Given the description of an element on the screen output the (x, y) to click on. 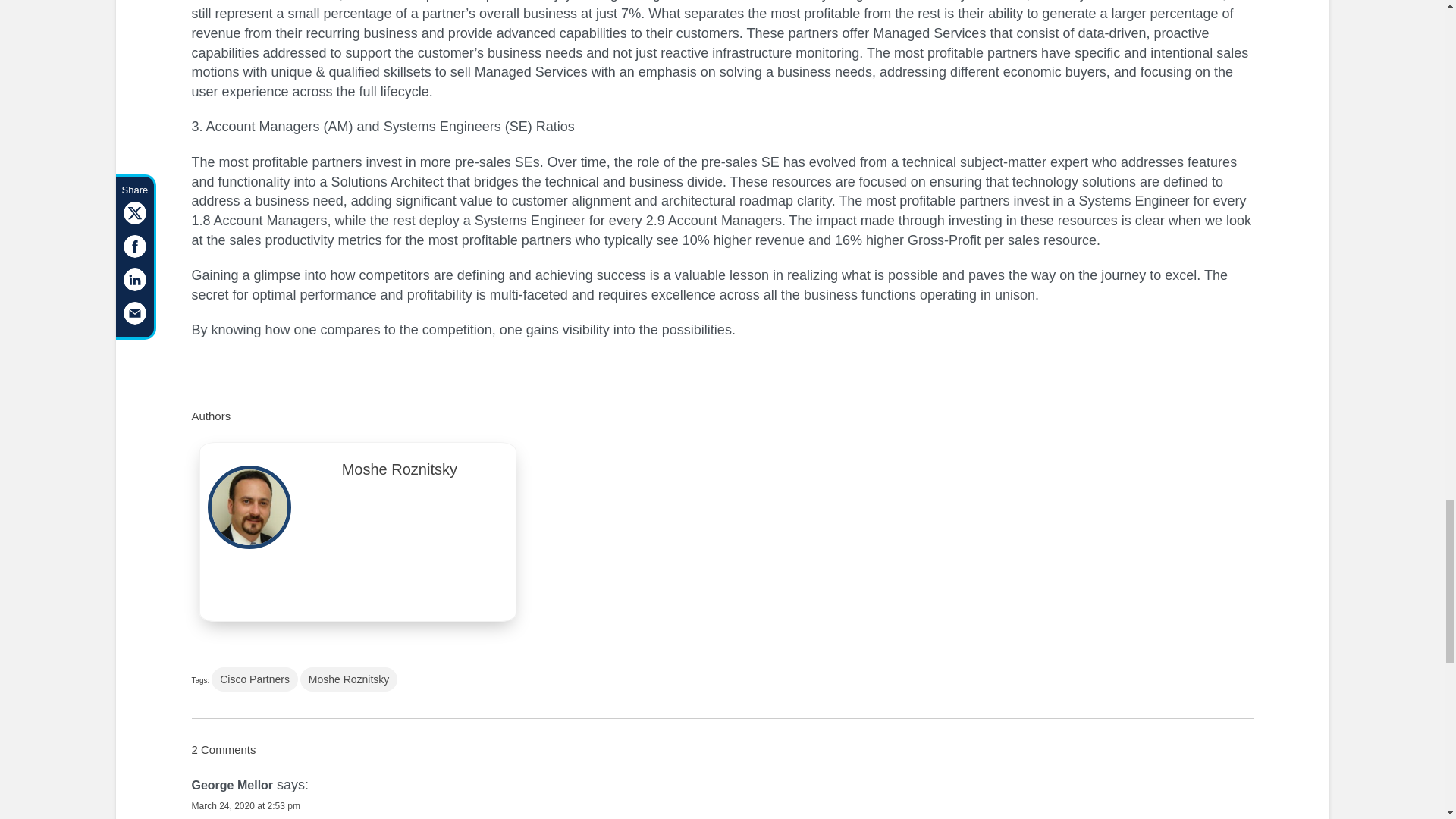
Moshe Roznitsky (348, 679)
Cisco Partners (254, 679)
March 24, 2020 at 2:53 pm (244, 805)
Moshe Roznitsky (399, 472)
